Given the description of an element on the screen output the (x, y) to click on. 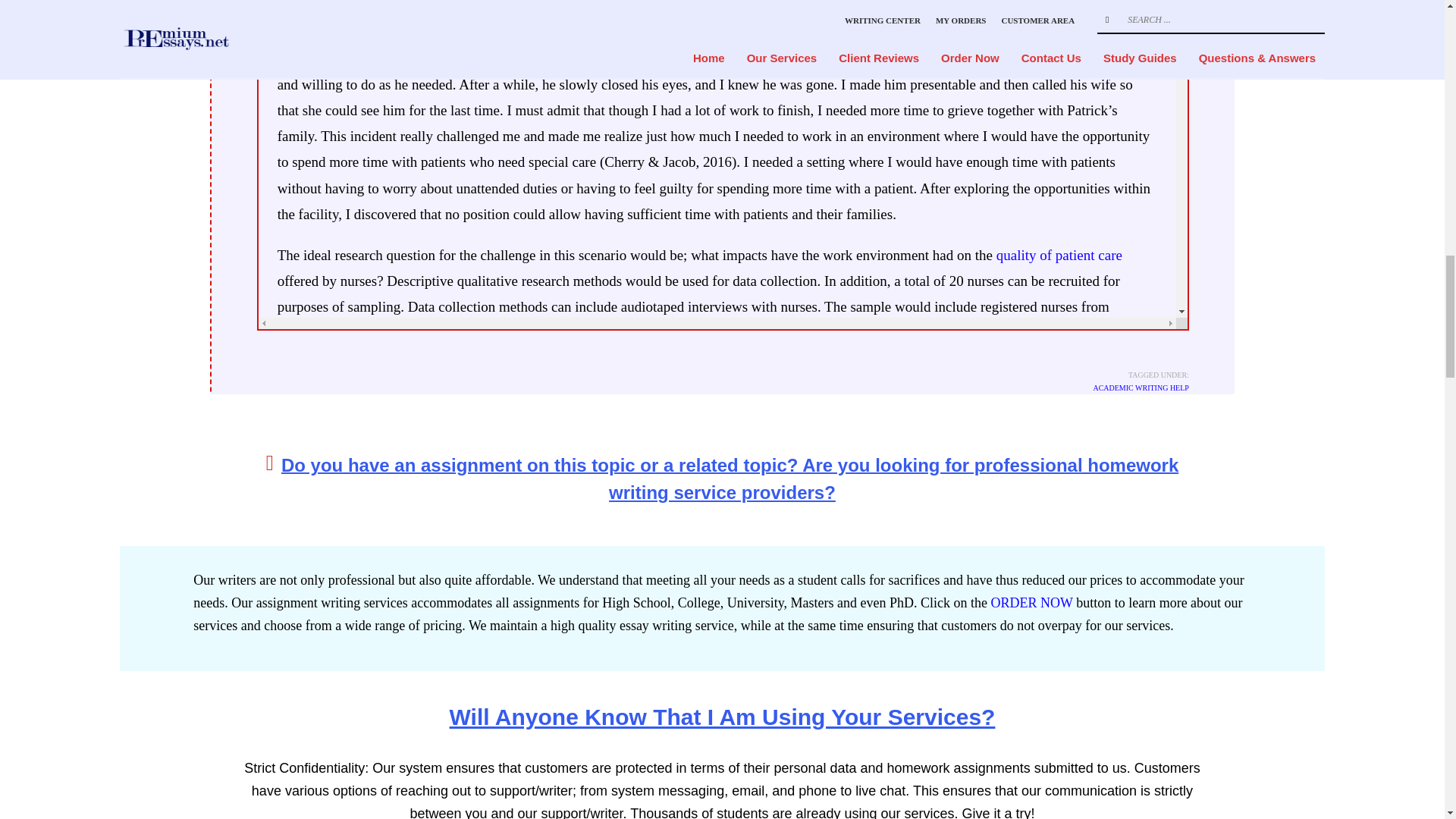
nursing practice (708, 397)
ORDER NOW (1030, 602)
quality of patient care (1058, 254)
ACADEMIC WRITING HELP (1140, 388)
